Given the description of an element on the screen output the (x, y) to click on. 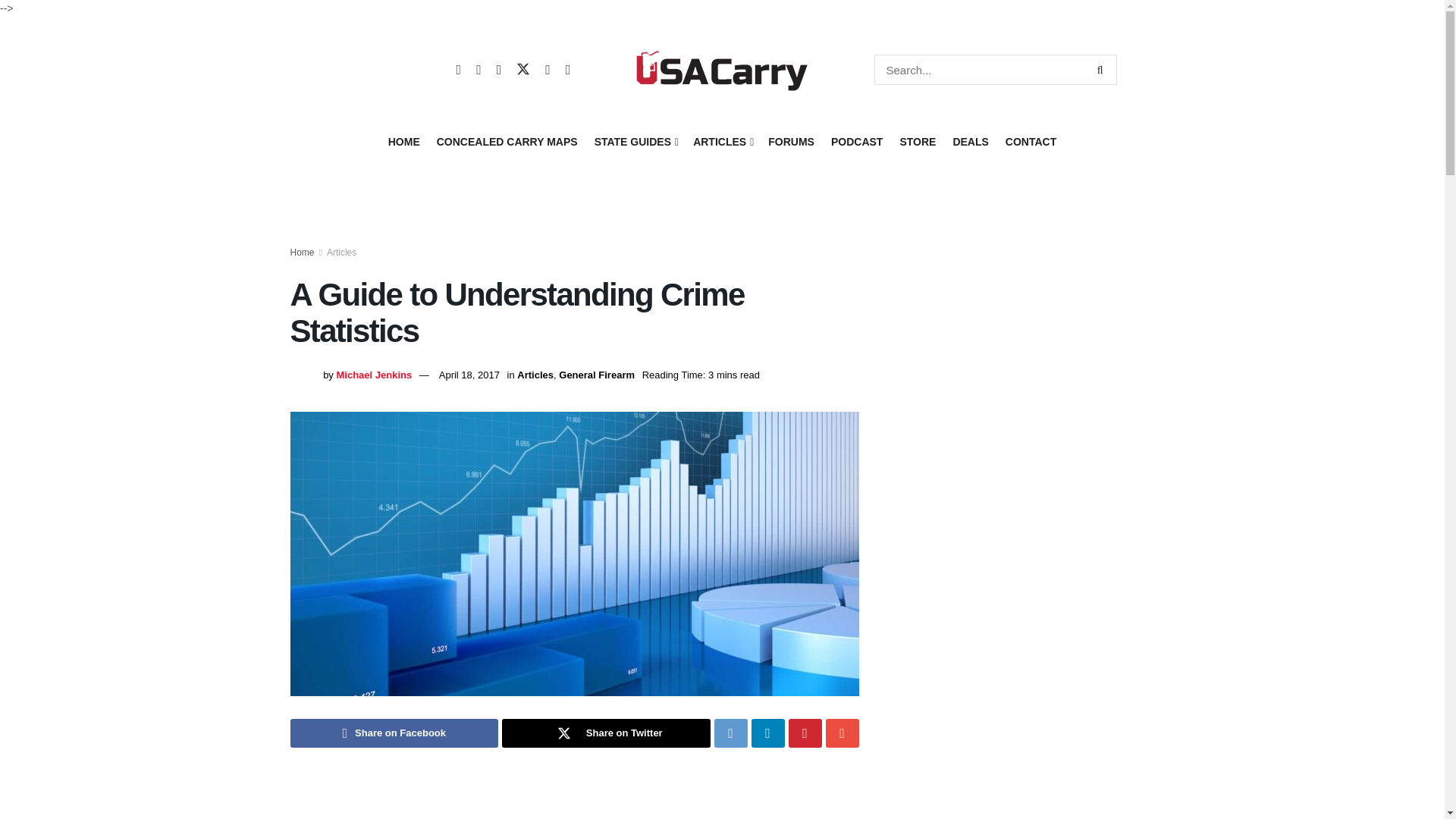
State Concealed Carry Guides (635, 141)
HOME (404, 141)
CONCEALED CARRY MAPS (507, 141)
STATE GUIDES (635, 141)
